Given the description of an element on the screen output the (x, y) to click on. 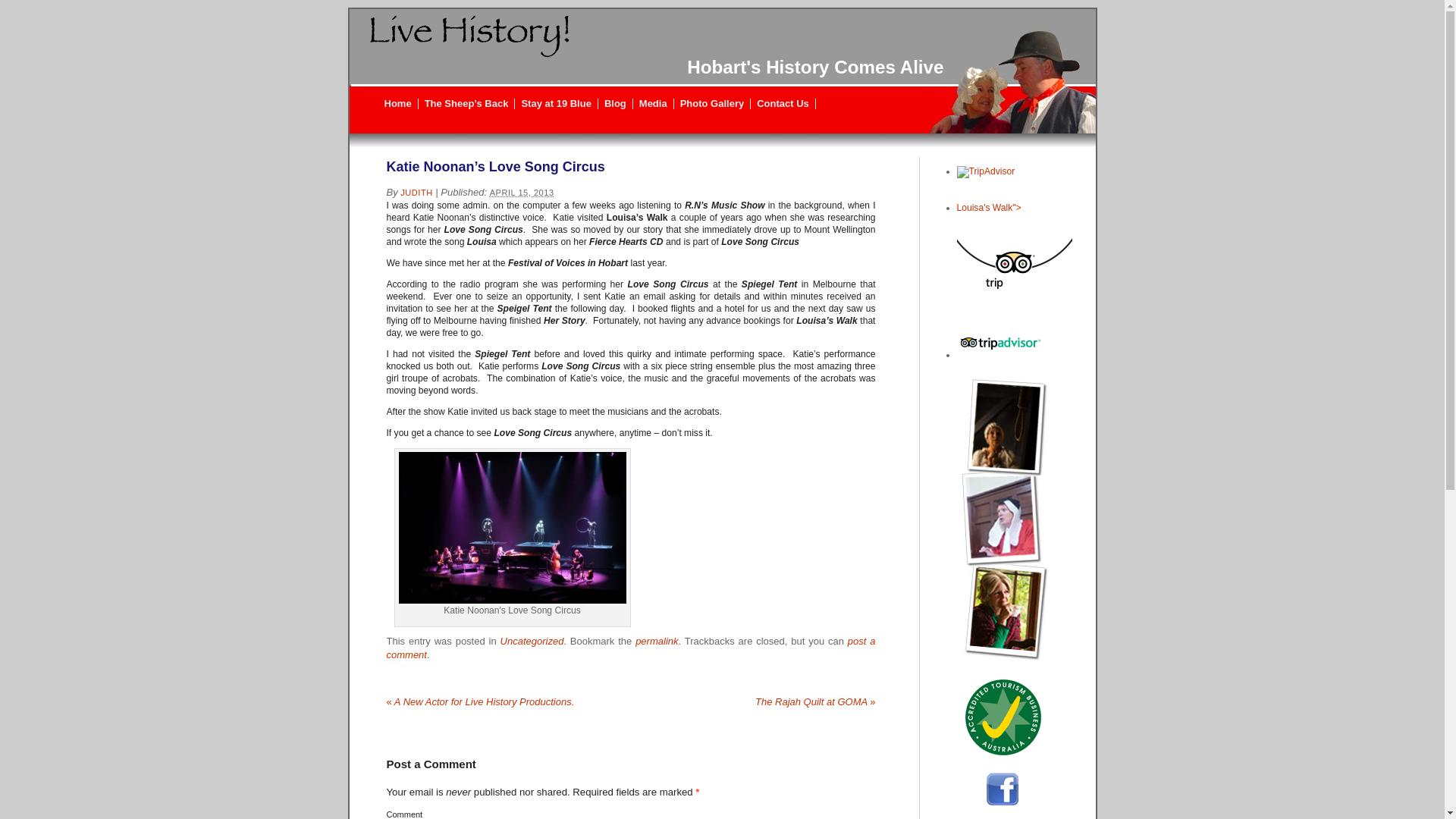
Blog Element type: text (615, 103)
Katie Noonan's Love Song Circus Element type: hover (512, 527)
JUDITH Element type: text (416, 192)
Photo Gallery Element type: text (712, 103)
Stay at 19 Blue Element type: text (556, 103)
live-montage-3 Element type: hover (988, 517)
fb_logo Element type: hover (973, 788)
Media Element type: text (653, 103)
post a comment Element type: text (630, 647)
Uncategorized Element type: text (532, 640)
Home Element type: text (397, 103)
Louisa's Walk"> Element type: text (1014, 251)
Contact Us Element type: text (782, 103)
permalink Element type: text (656, 640)
